Given the description of an element on the screen output the (x, y) to click on. 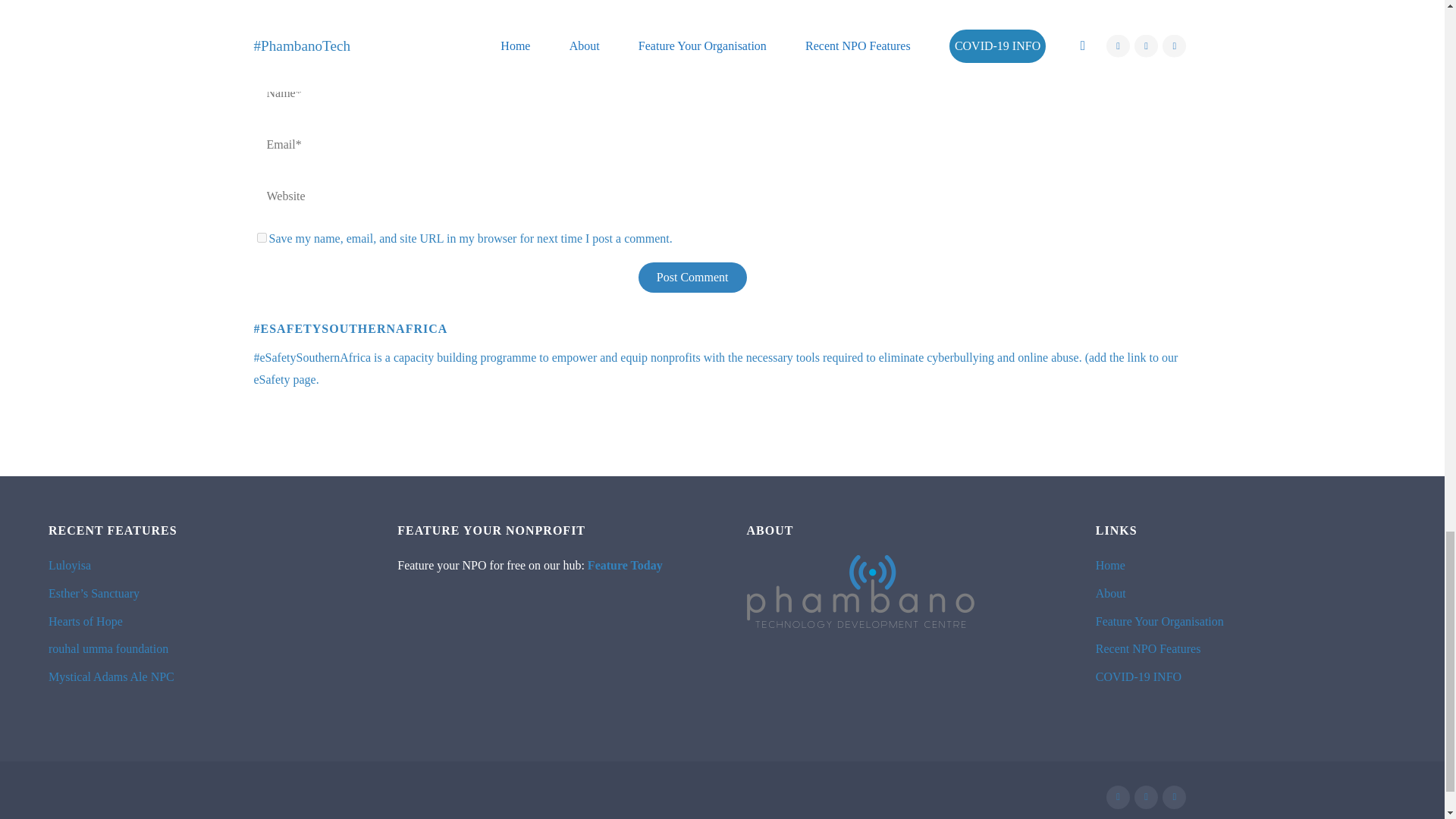
Post Comment (692, 277)
Mystical Adams Ale NPC (111, 676)
yes (261, 237)
Luloyisa (69, 564)
Hearts of Hope (85, 621)
rouhal umma foundation (108, 648)
Post Comment (692, 277)
